Given the description of an element on the screen output the (x, y) to click on. 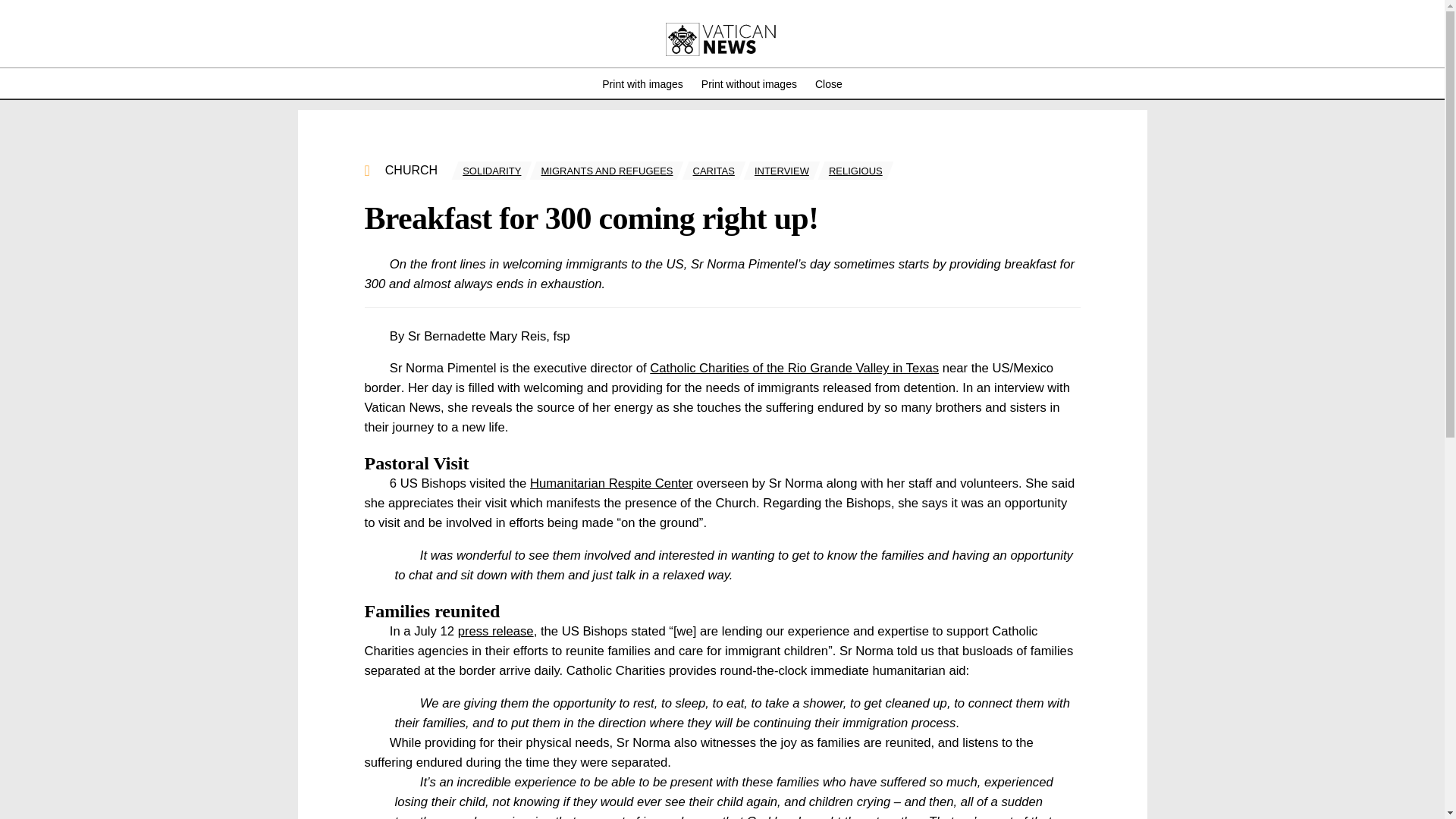
TagList for "Migrants And Refugees" (605, 170)
RELIGIOUS (855, 170)
INTERVIEW (781, 170)
Close (829, 83)
CARITAS (713, 170)
TagList for "Caritas" (713, 170)
Print without images (748, 83)
MIGRANTS AND REFUGEES (605, 170)
Print without images (748, 83)
TagList for "Solidarity" (491, 170)
